Given the description of an element on the screen output the (x, y) to click on. 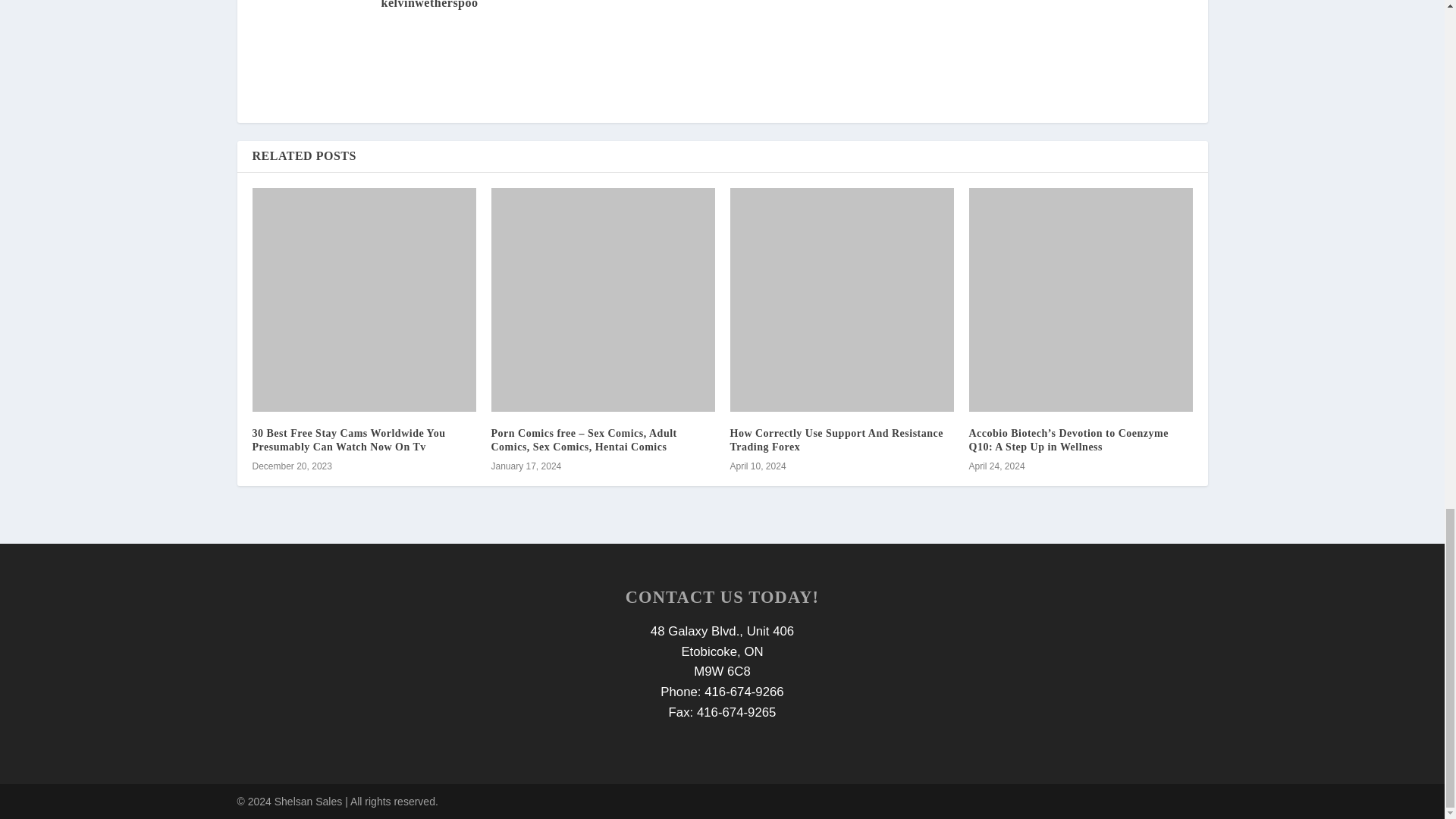
kelvinwetherspoo (428, 4)
How Correctly Use Support And Resistance Trading Forex (835, 439)
